Given the description of an element on the screen output the (x, y) to click on. 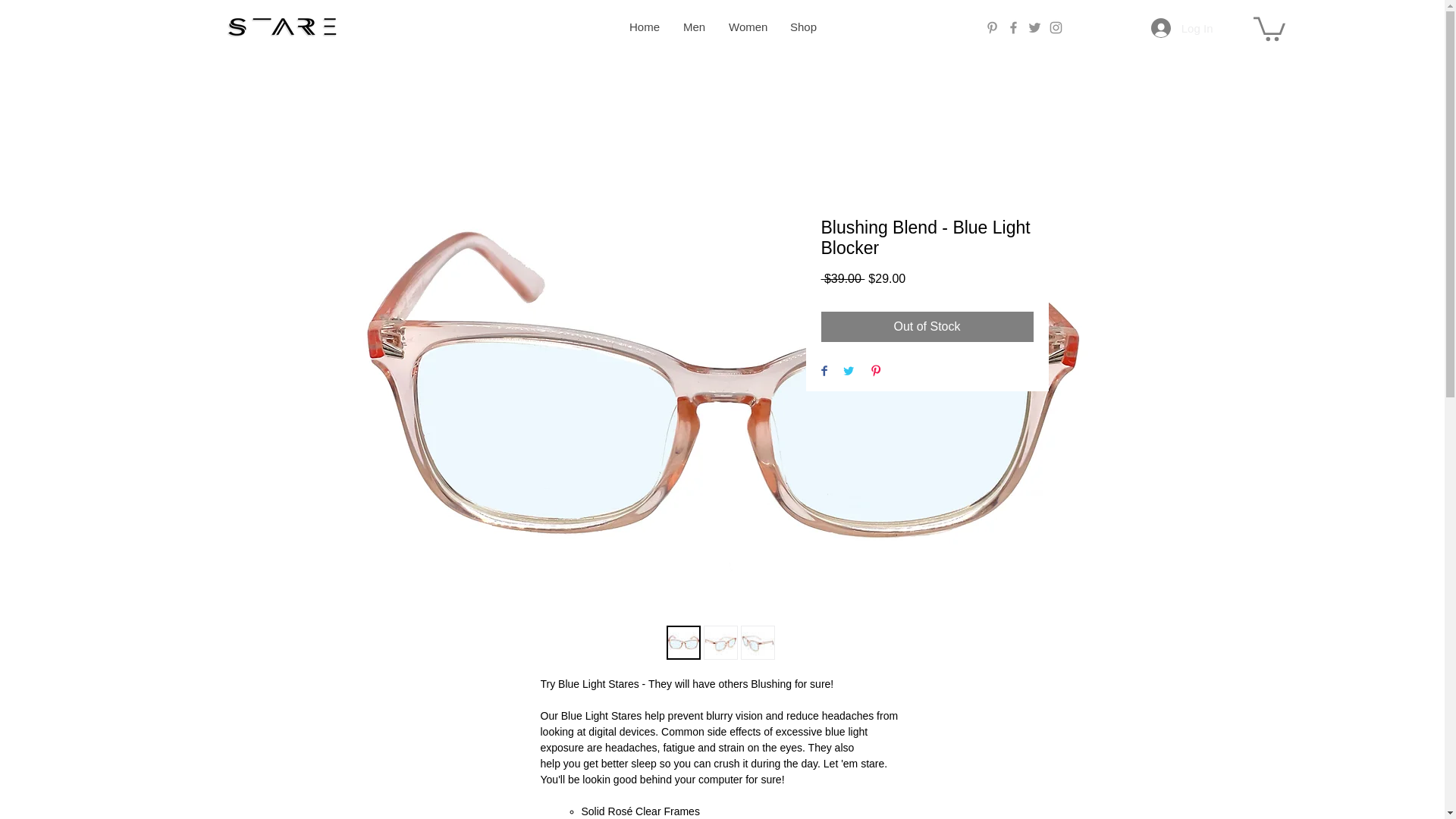
Women (746, 26)
Out of Stock (926, 327)
Home (644, 26)
Log In (1182, 27)
Men (693, 26)
